Given the description of an element on the screen output the (x, y) to click on. 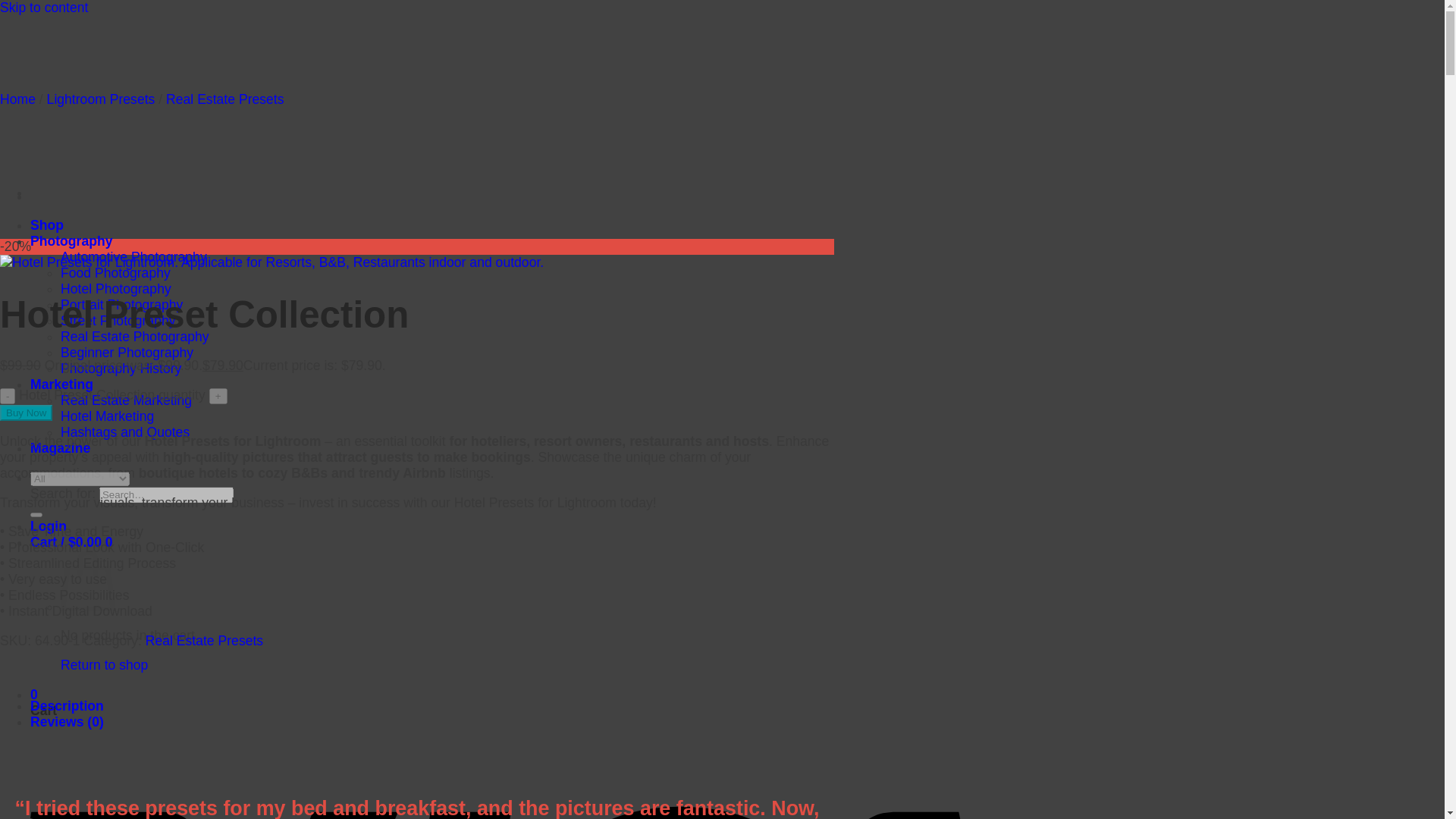
Street Photography (118, 320)
Photography (71, 240)
Return to shop (104, 664)
Home (17, 99)
Beginner Photography (127, 352)
- (7, 396)
Description (66, 705)
Login (48, 525)
Hotel Photography (116, 288)
Buy Now (26, 412)
